Given the description of an element on the screen output the (x, y) to click on. 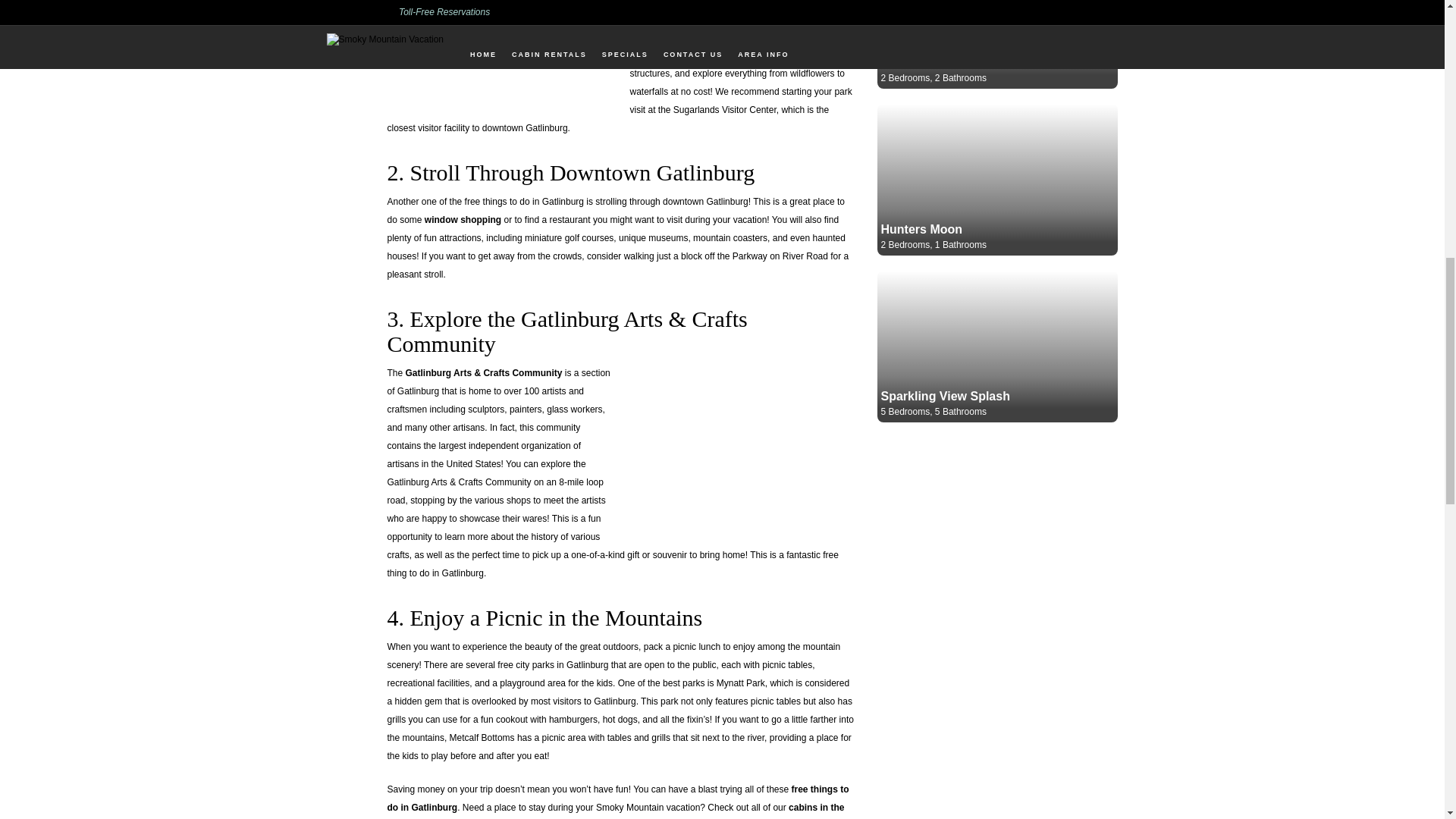
cabins in the Smoky Mountains (615, 810)
window shopping (462, 219)
free things to do in Gatlinburg (617, 798)
scenic hiking trails (669, 54)
